Given the description of an element on the screen output the (x, y) to click on. 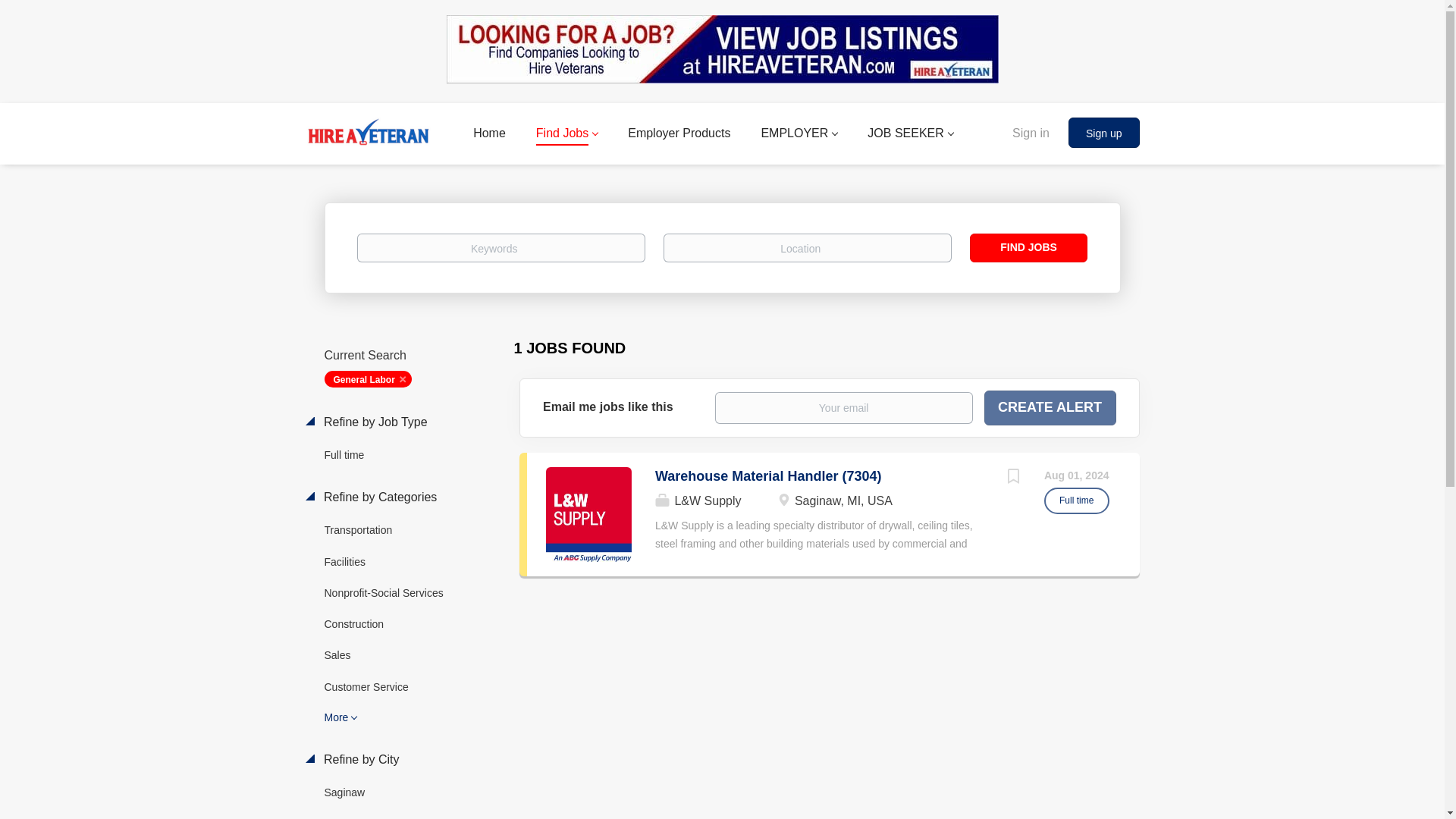
Find Jobs (565, 135)
Sign in (1031, 131)
Employer Products (678, 135)
Create alert (1050, 407)
Home (489, 135)
JOB SEEKER (909, 135)
EMPLOYER (798, 135)
Sign up (1103, 132)
